Given the description of an element on the screen output the (x, y) to click on. 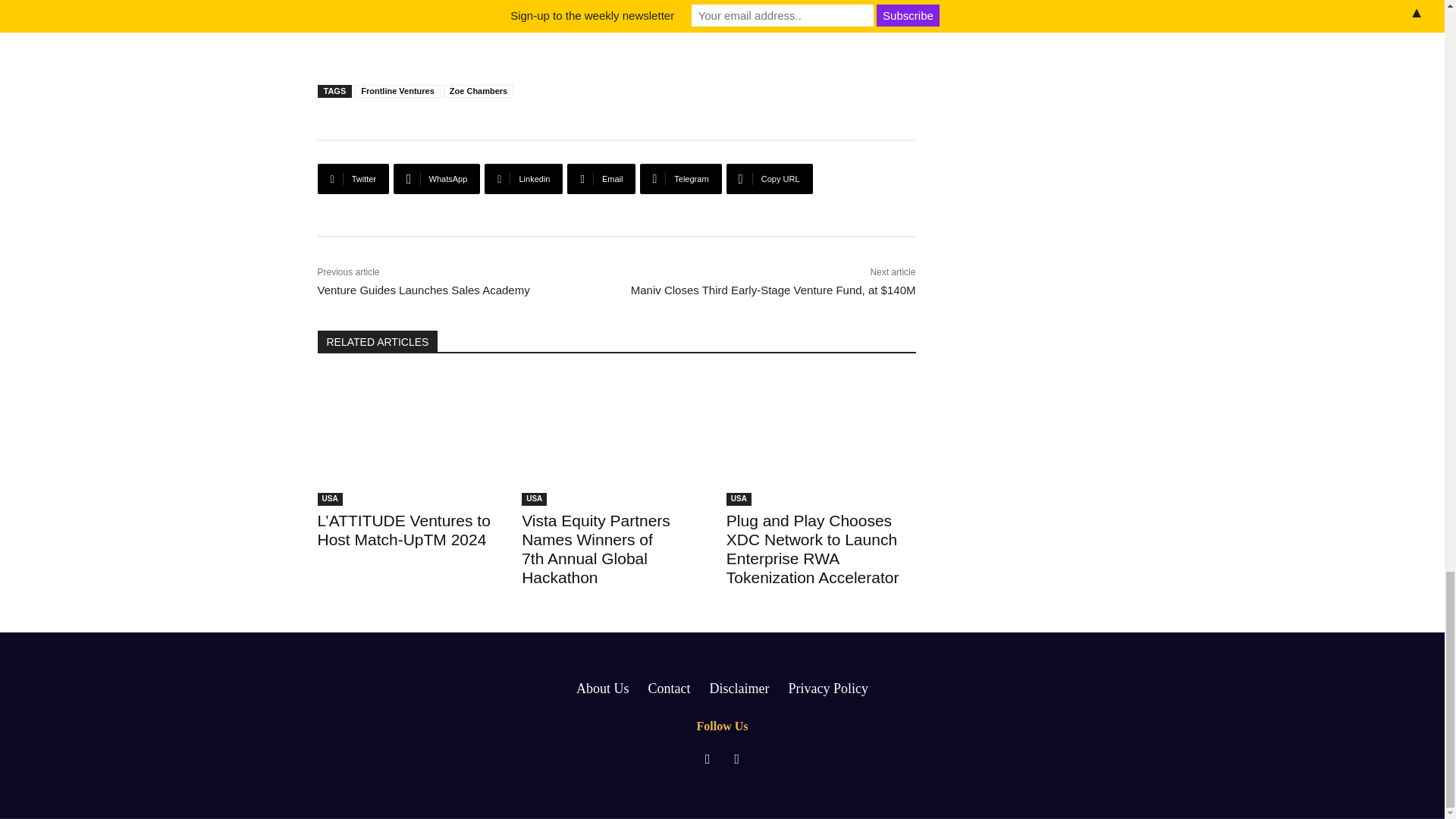
Twitter (352, 178)
Telegram (680, 178)
WhatsApp (436, 178)
Linkedin (523, 178)
Venture Guides Launches Sales Academy (423, 289)
Copy URL (769, 178)
Email (600, 178)
Email (600, 178)
USA (329, 499)
Frontline Ventures (398, 91)
